Given the description of an element on the screen output the (x, y) to click on. 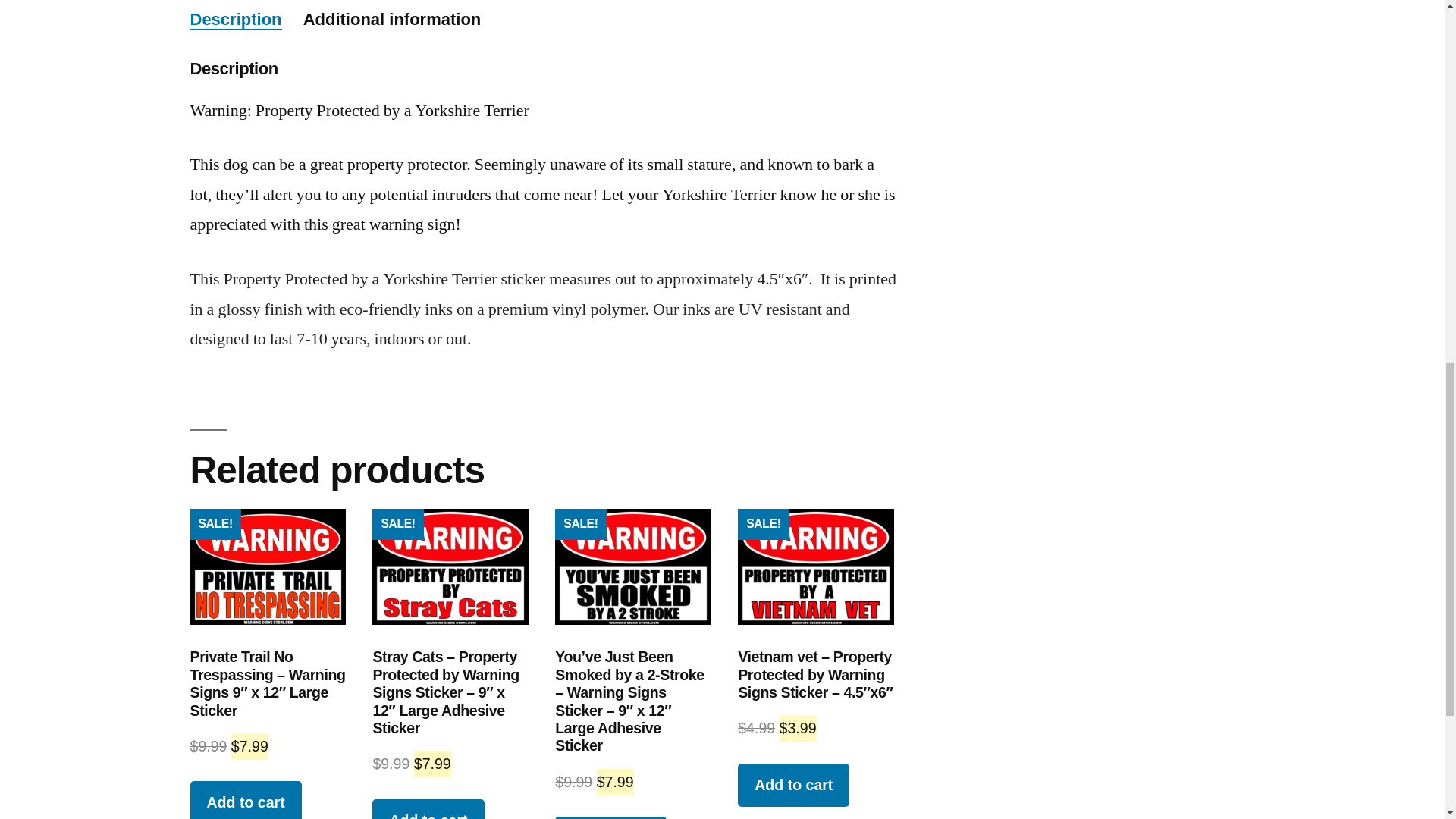
Description (235, 18)
Add to cart (427, 809)
Additional information (391, 18)
Add to cart (245, 800)
